Given the description of an element on the screen output the (x, y) to click on. 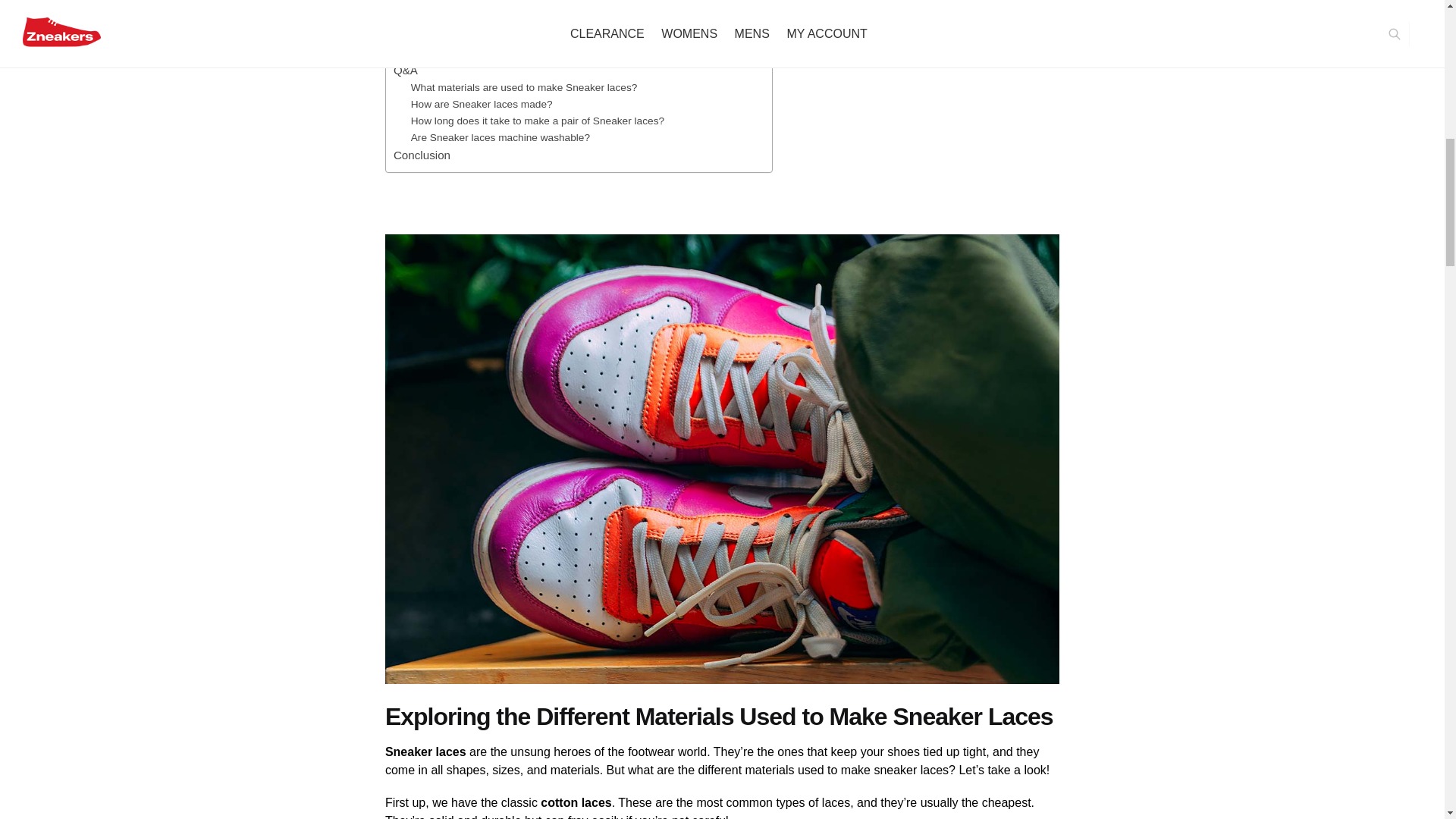
Conclusion (421, 155)
Exploring the Different Materials Used to Make Sneaker Laces (552, 2)
Exploring the Different Materials Used to Make Sneaker Laces (552, 2)
Are Sneaker laces machine washable? (499, 137)
How Technology is Changing the Way Sneaker Laces are Made (556, 52)
How are Sneaker laces made? (481, 104)
What materials are used to make Sneaker laces? (523, 87)
How long does it take to make a pair of Sneaker laces? (536, 121)
